Given the description of an element on the screen output the (x, y) to click on. 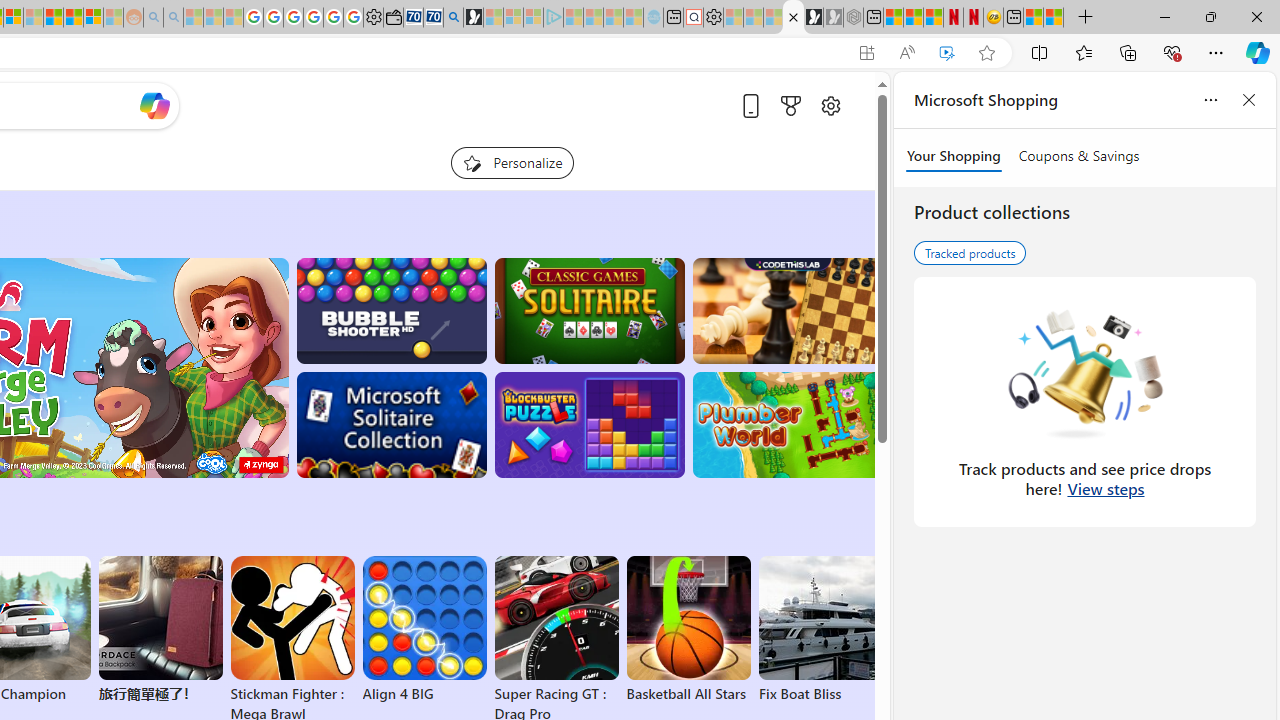
Basketball All Stars (688, 629)
